Given the description of an element on the screen output the (x, y) to click on. 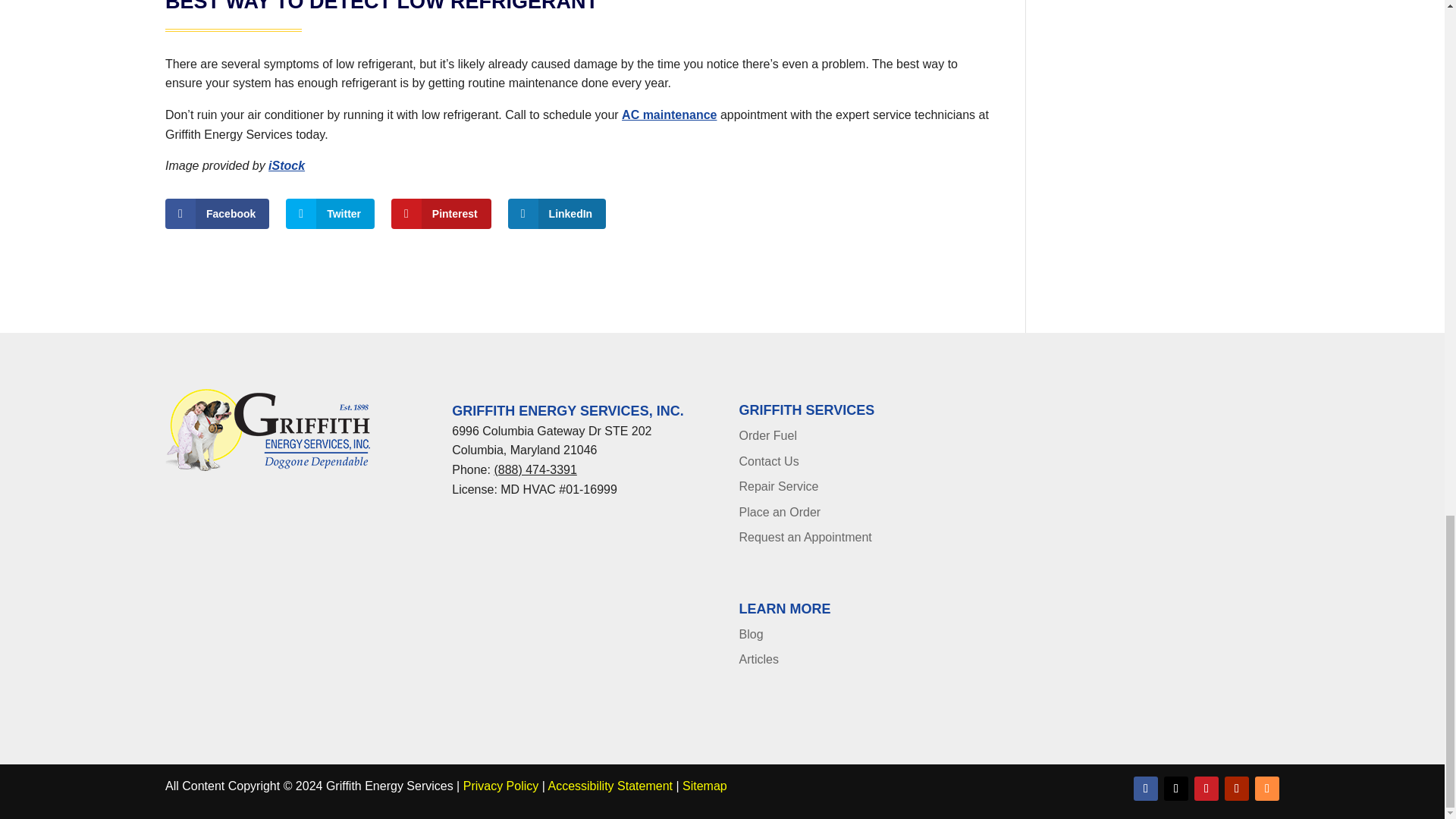
Follow on Youtube (1236, 788)
Follow on RSS (1267, 788)
Follow on Facebook (1145, 788)
Follow on Pinterest (1205, 788)
Follow on X (1175, 788)
